Given the description of an element on the screen output the (x, y) to click on. 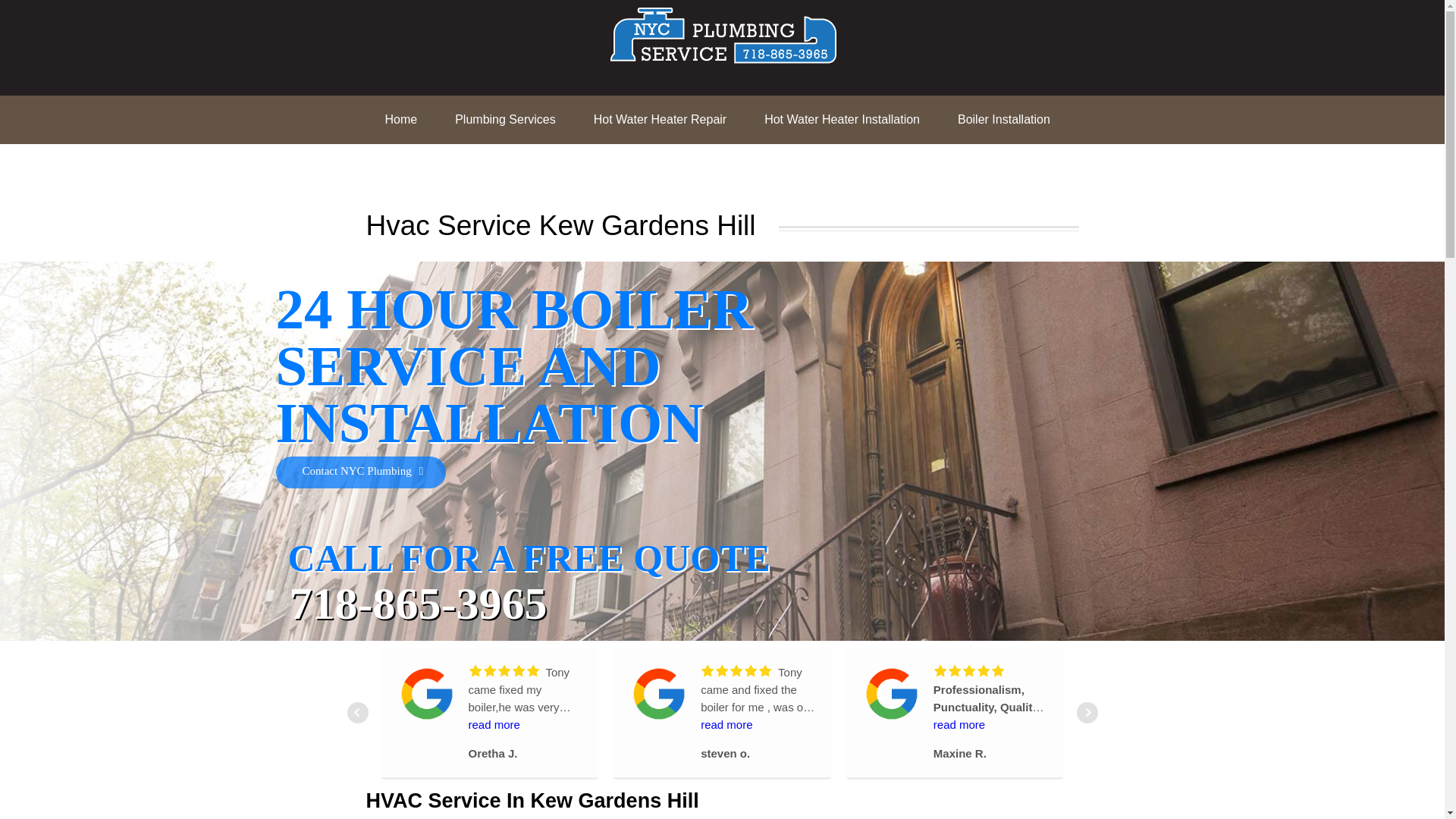
Boiler Installation (1003, 119)
Plumbing Services (505, 119)
Next (1087, 712)
Boiler Repair (419, 168)
Prev (357, 712)
Contact Us (869, 168)
Hot Water Heater Installation (842, 119)
Hot Water Heater Repair (660, 119)
Air Conditioning Repair (740, 168)
Air Conditioning Installation (566, 168)
Home (400, 119)
